Given the description of an element on the screen output the (x, y) to click on. 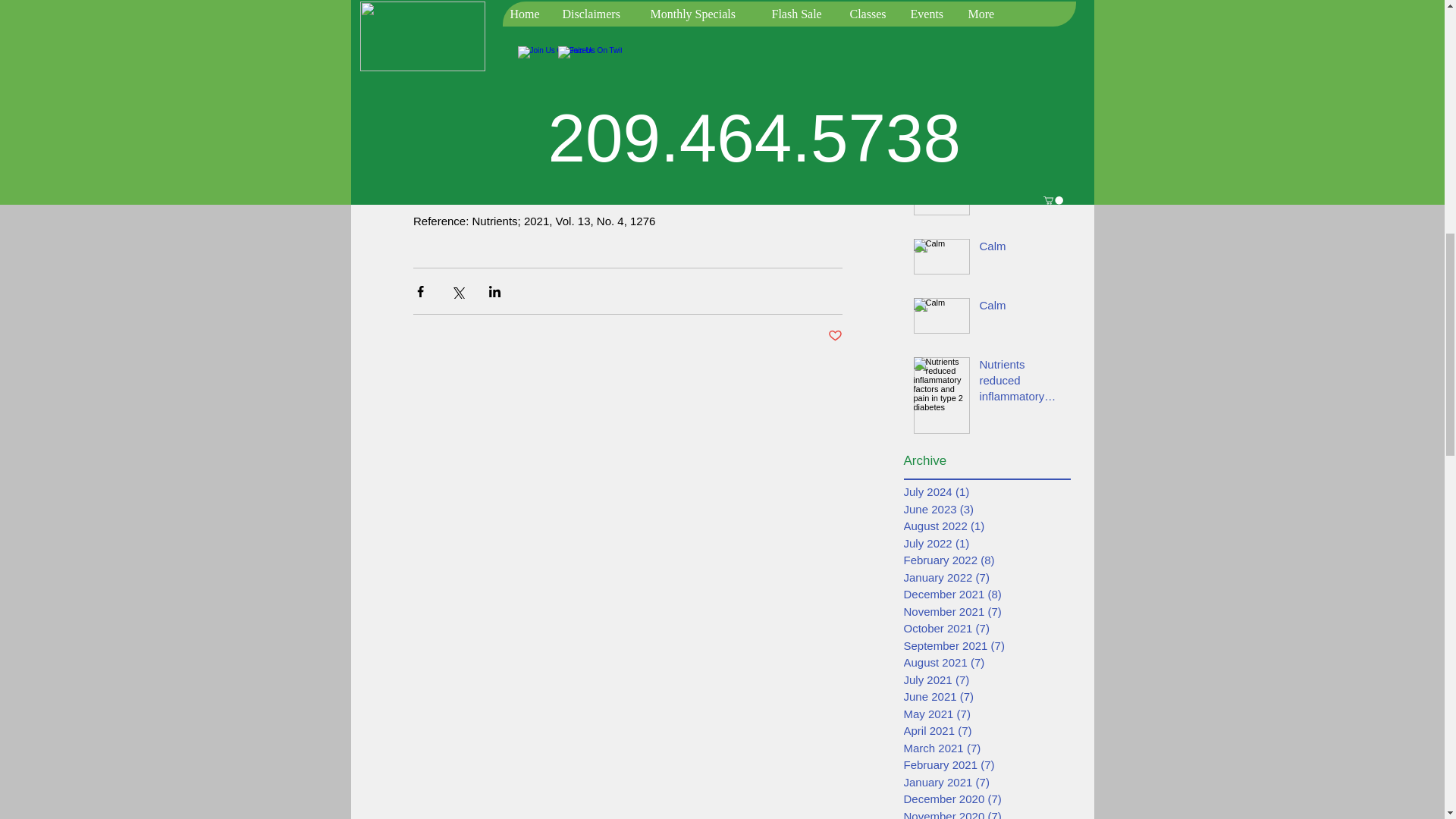
Calm (1020, 249)
Turmeric vs. Curcumin: What's the Difference? (1020, 54)
Calm (1020, 308)
Exercise (1020, 173)
A NUTRITIONAL APPROACH TO TREATING ACNE (1020, 109)
Post not marked as liked (835, 335)
8 Signs Your Blood Sugar Might Be Too High (1020, 7)
